Given the description of an element on the screen output the (x, y) to click on. 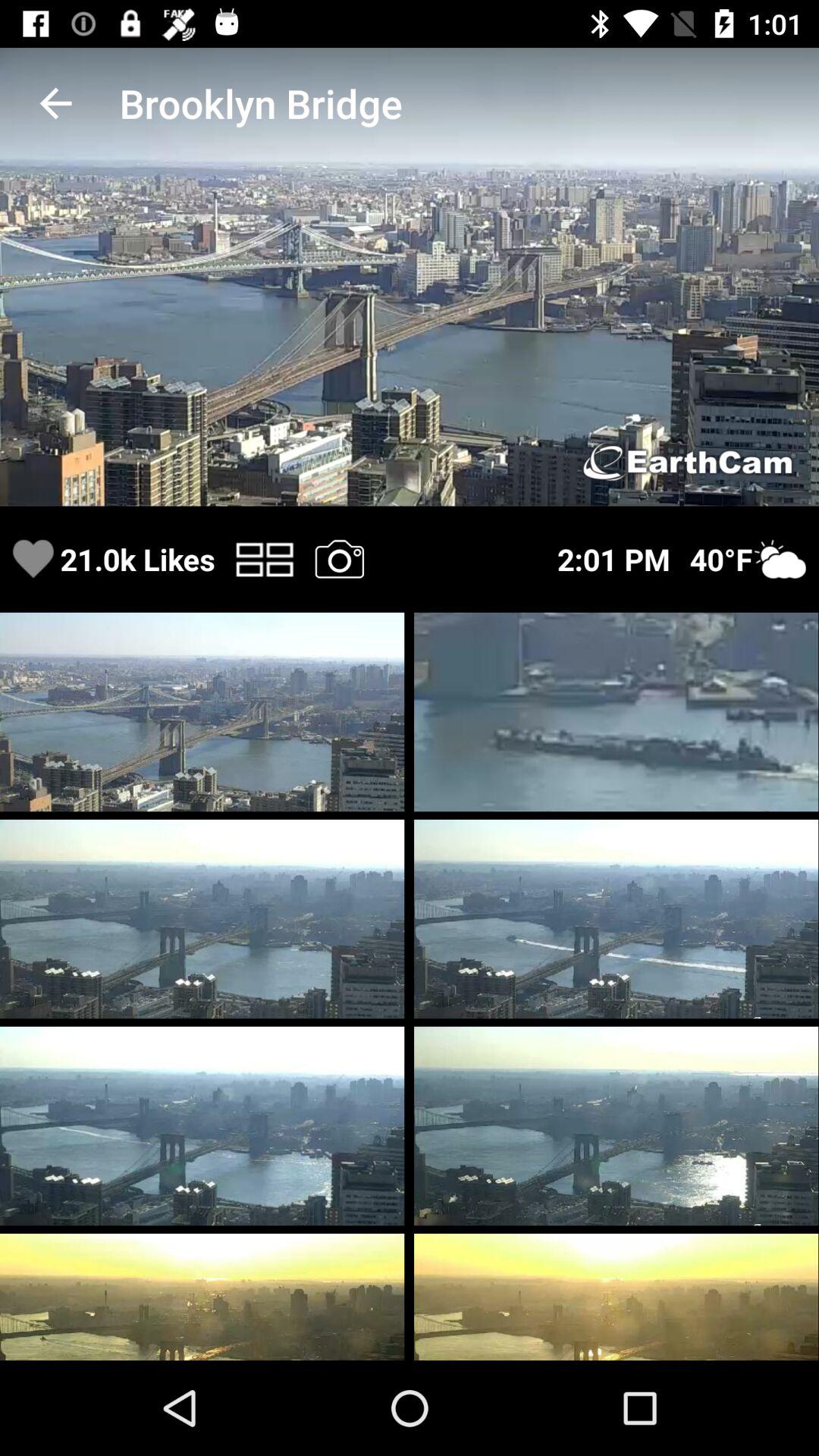
add to liked (33, 559)
